Given the description of an element on the screen output the (x, y) to click on. 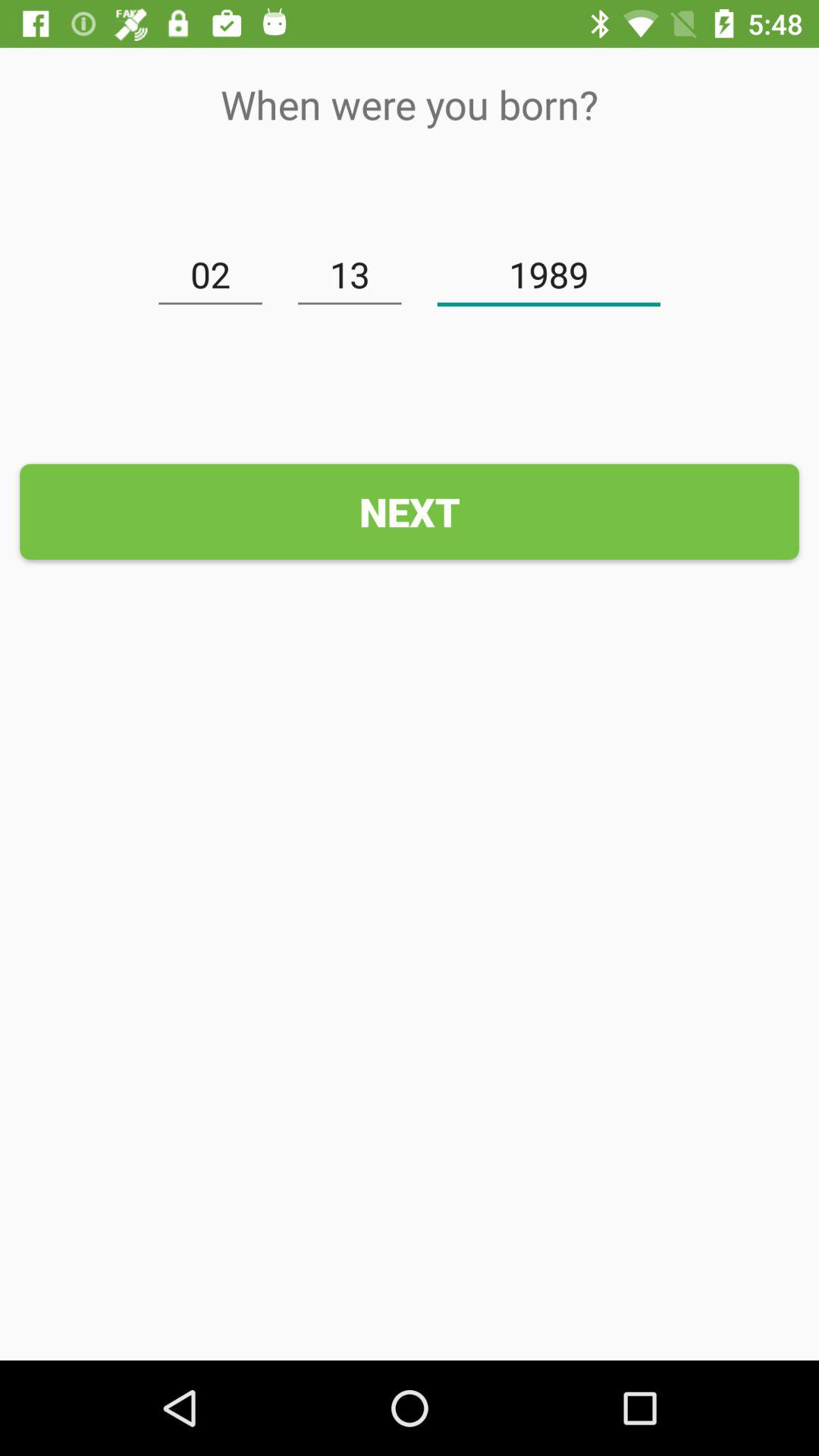
scroll until the 02 item (210, 275)
